Given the description of an element on the screen output the (x, y) to click on. 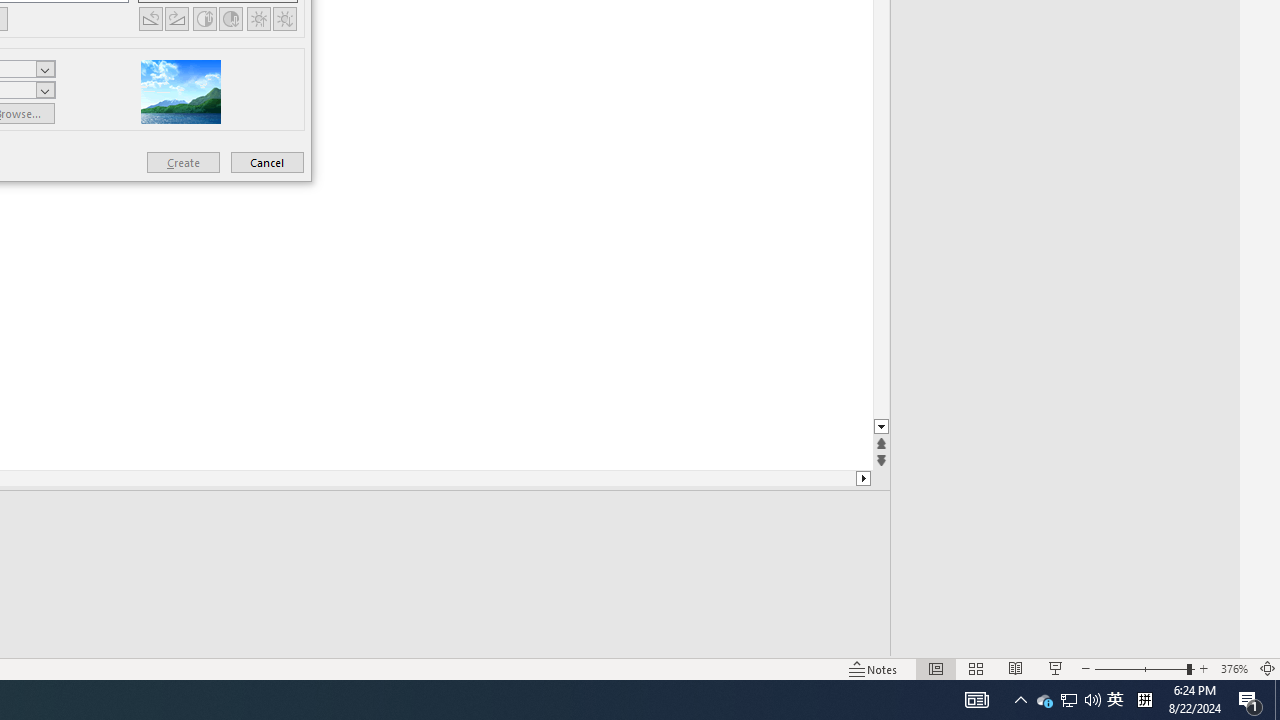
Zoom 376% (1234, 668)
